Given the description of an element on the screen output the (x, y) to click on. 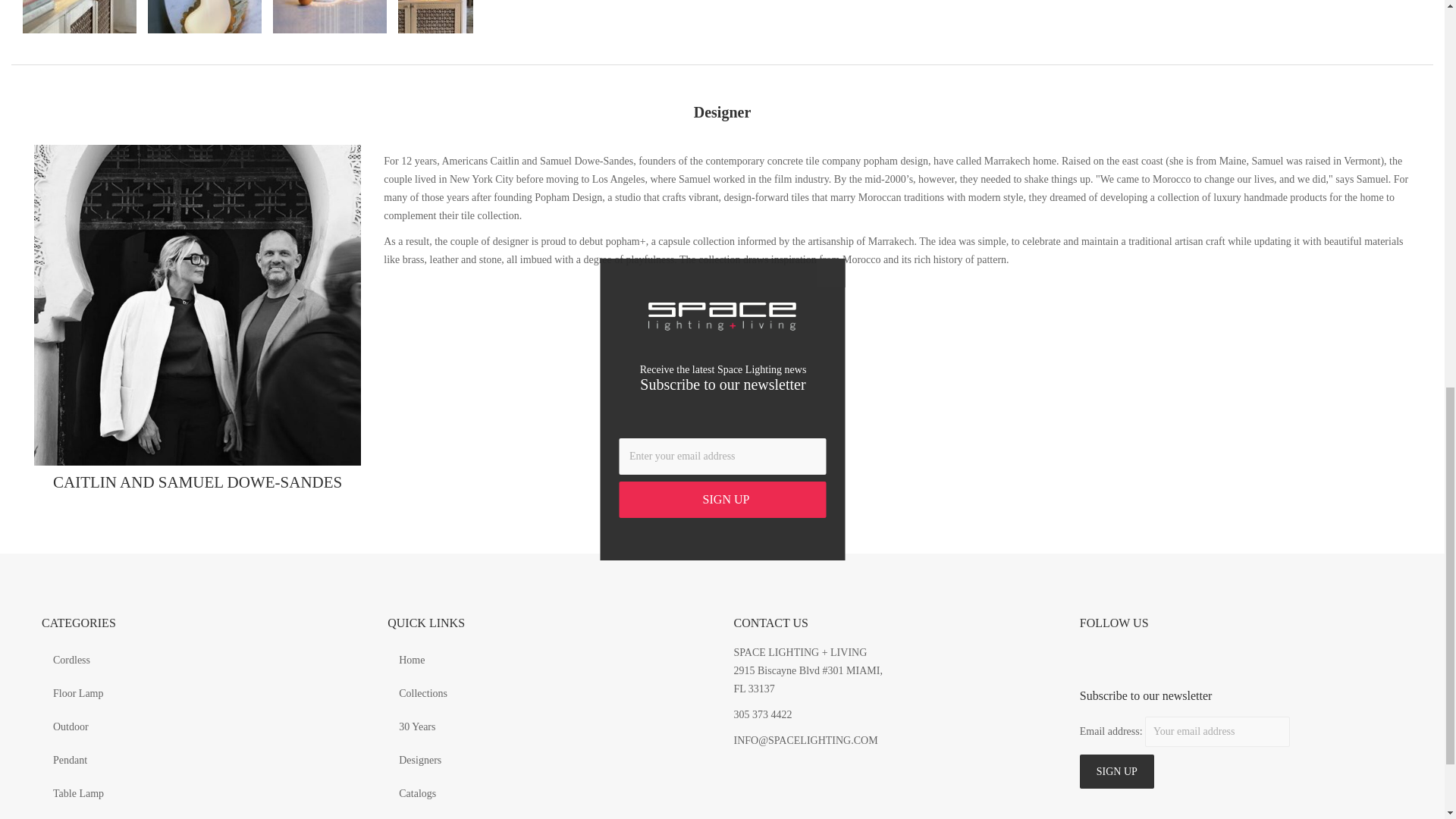
Sign up (1117, 771)
